Given the description of an element on the screen output the (x, y) to click on. 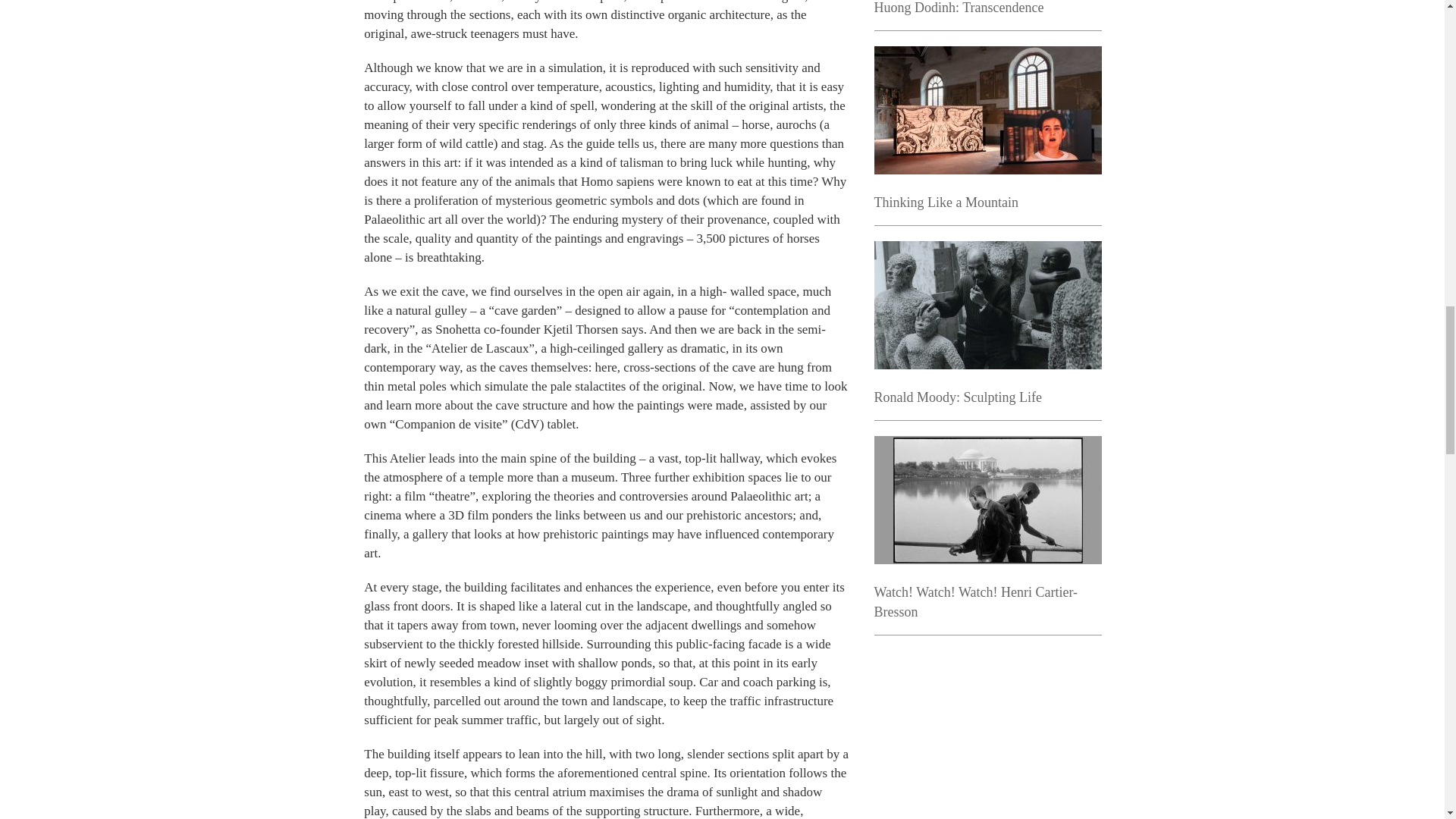
Huong Dodinh: Transcendence (958, 7)
